Given the description of an element on the screen output the (x, y) to click on. 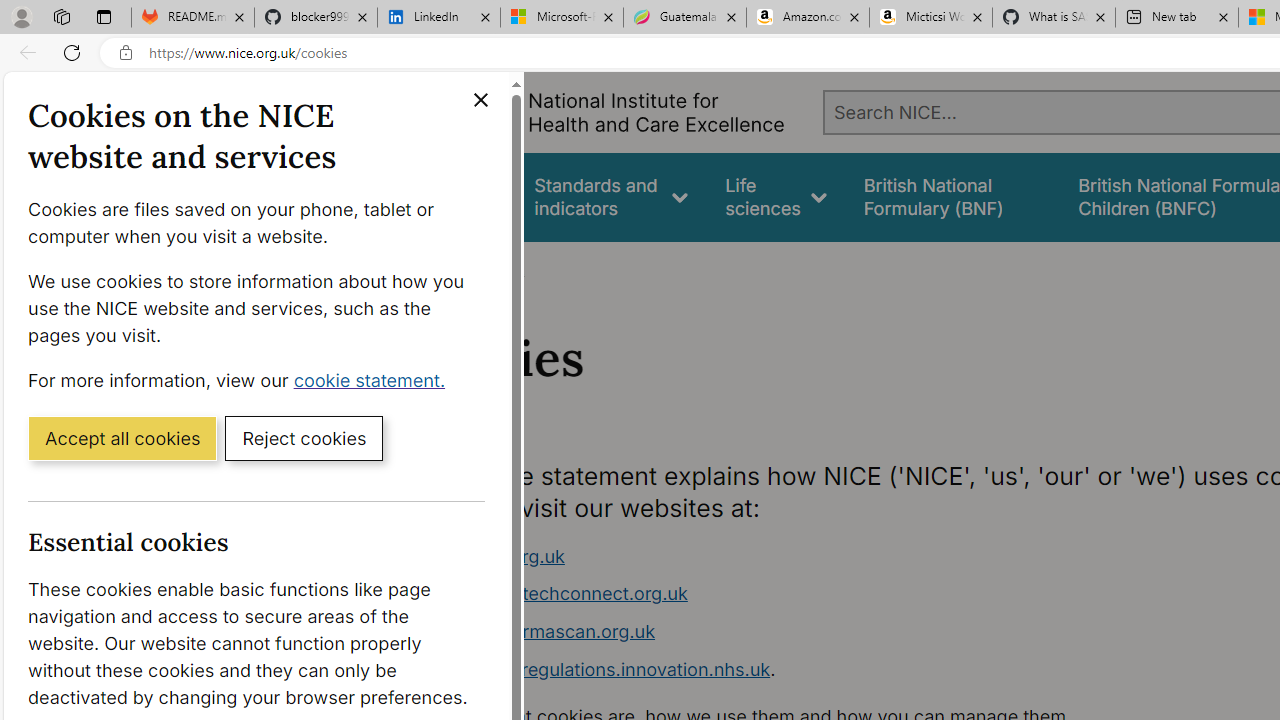
View site information (125, 53)
Guidance (458, 196)
www.digitalregulations.innovation.nhs.uk (595, 668)
www.nice.org.uk (796, 556)
Life sciences (776, 196)
New tab (1176, 17)
Tab actions menu (104, 16)
cookie statement. (Opens in a new window) (373, 379)
